Given the description of an element on the screen output the (x, y) to click on. 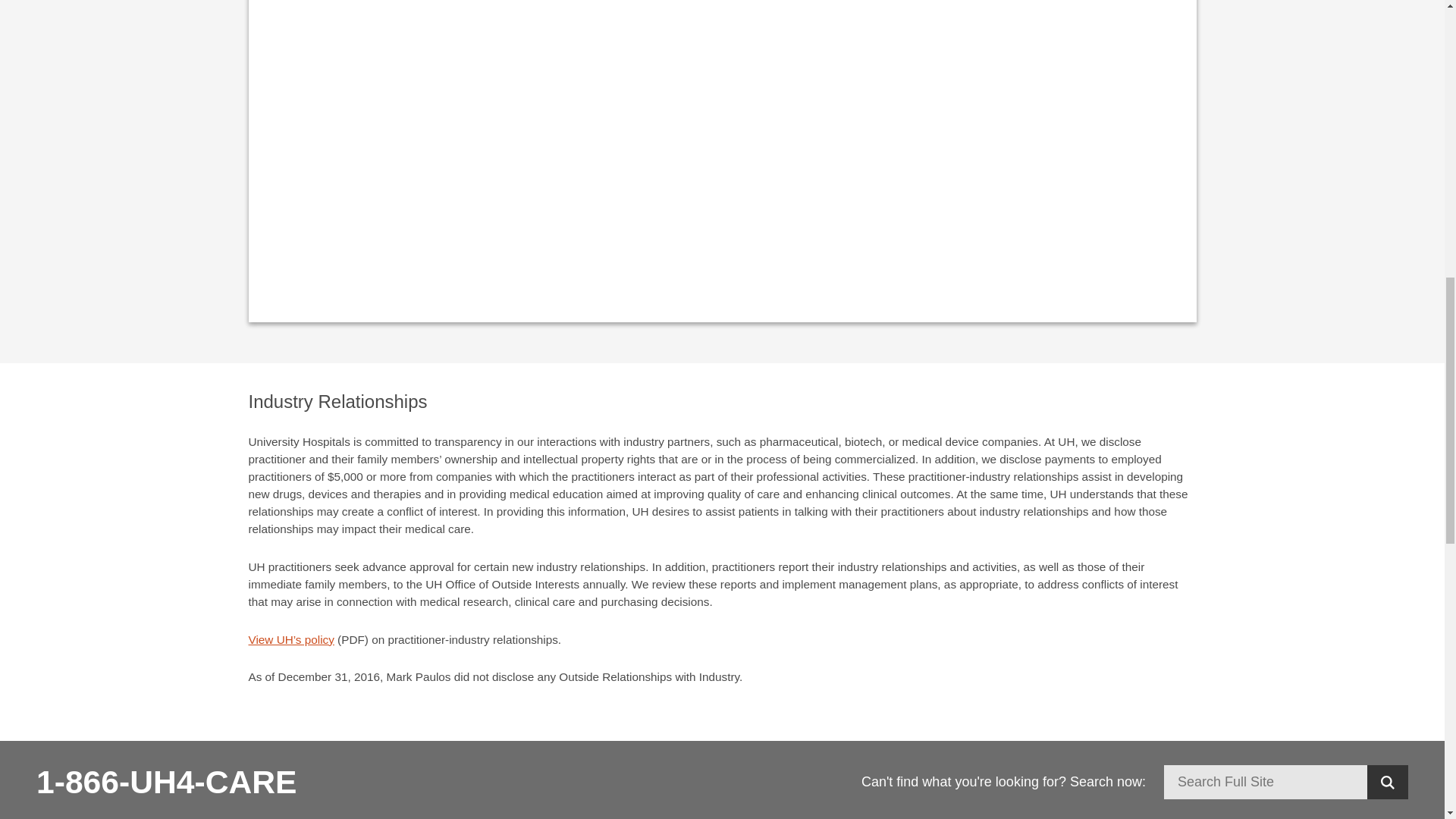
Search (1387, 781)
